Given the description of an element on the screen output the (x, y) to click on. 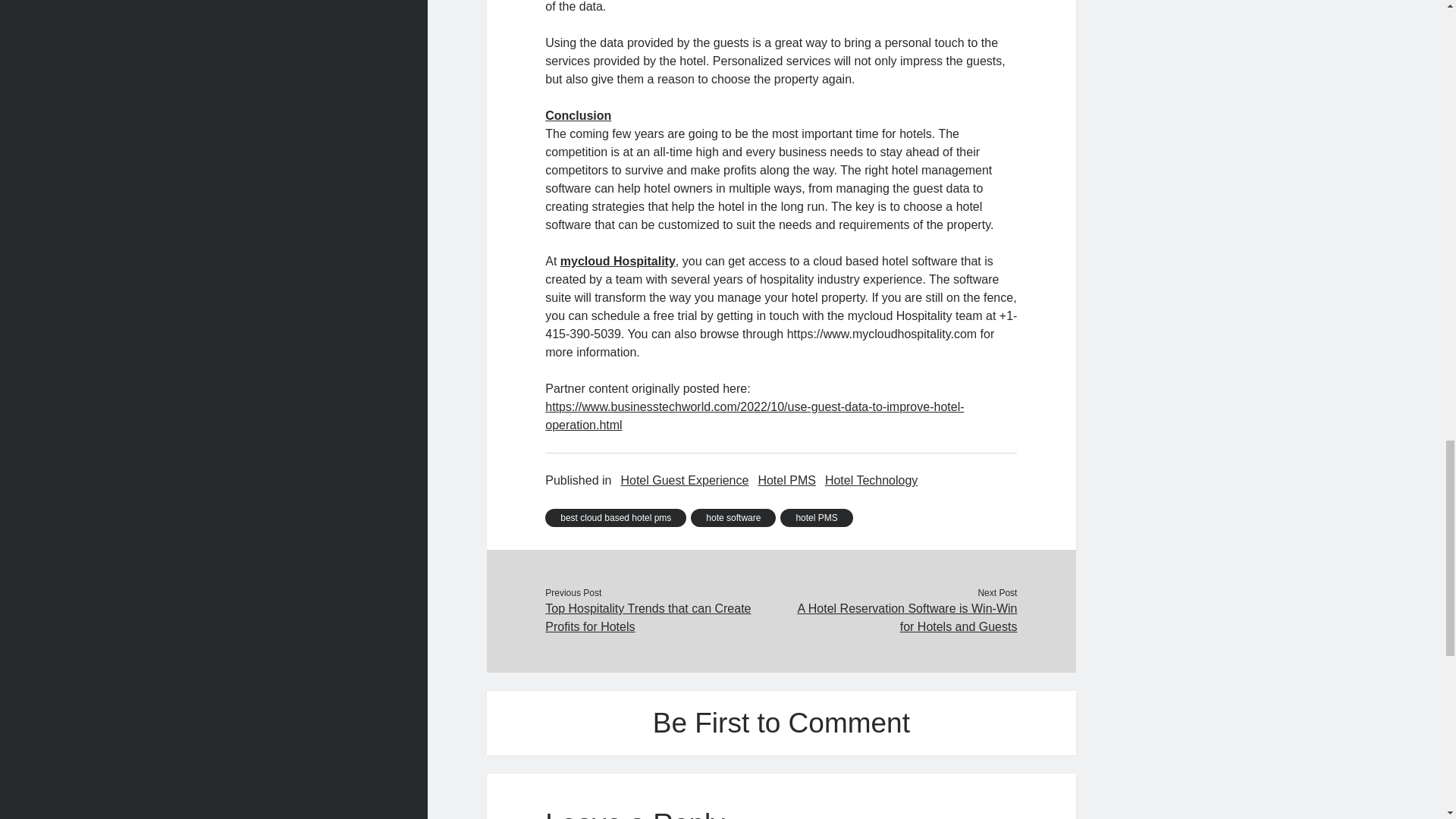
View all posts in Hotel Guest Experience (684, 480)
View all posts tagged hote software (733, 517)
View all posts in Hotel Technology (871, 480)
View all posts tagged hotel PMS (815, 517)
View all posts in Hotel PMS (786, 480)
View all posts tagged best cloud based hotel pms (614, 517)
